Given the description of an element on the screen output the (x, y) to click on. 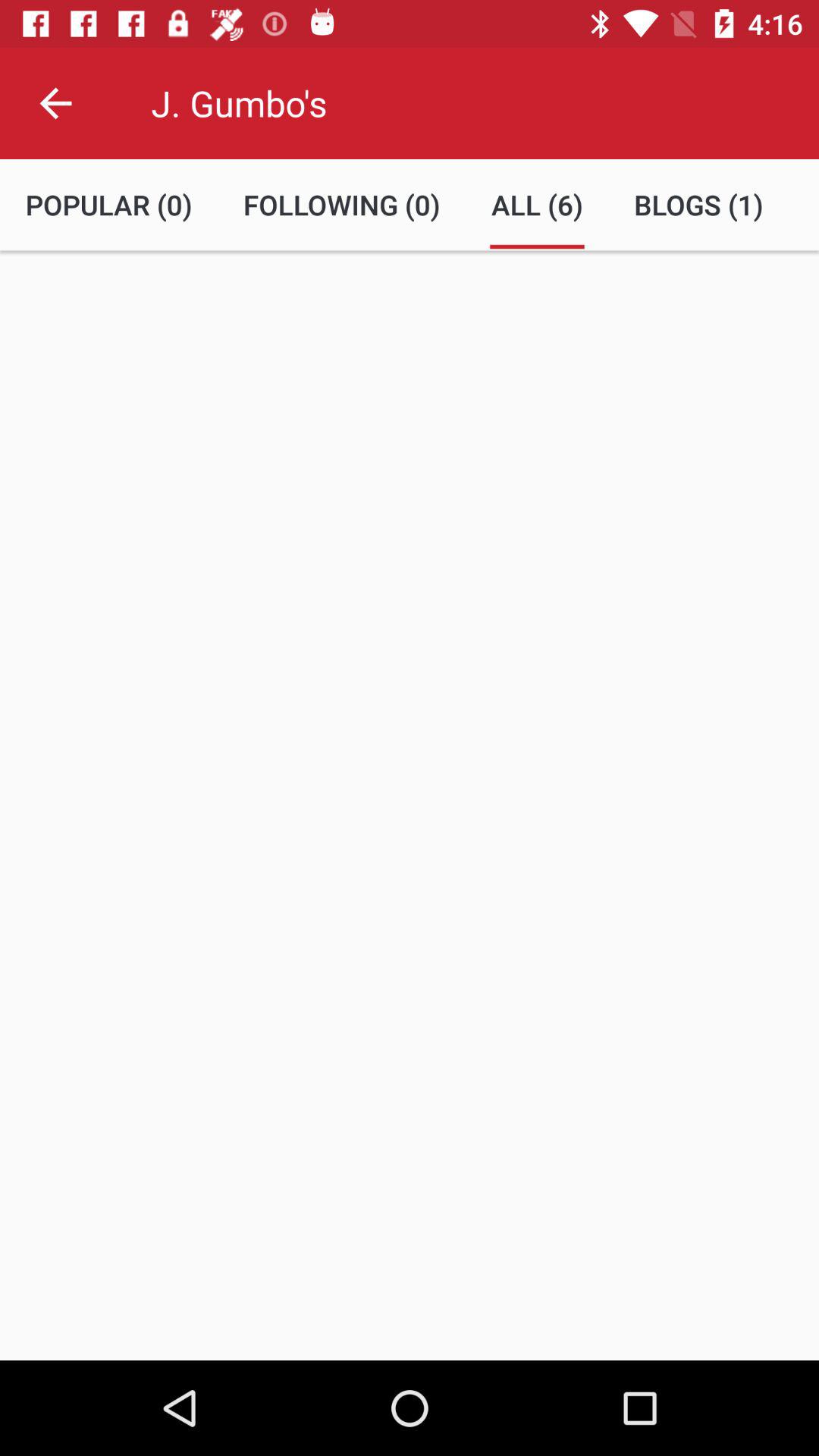
press the item to the left of the following (0) icon (108, 204)
